Given the description of an element on the screen output the (x, y) to click on. 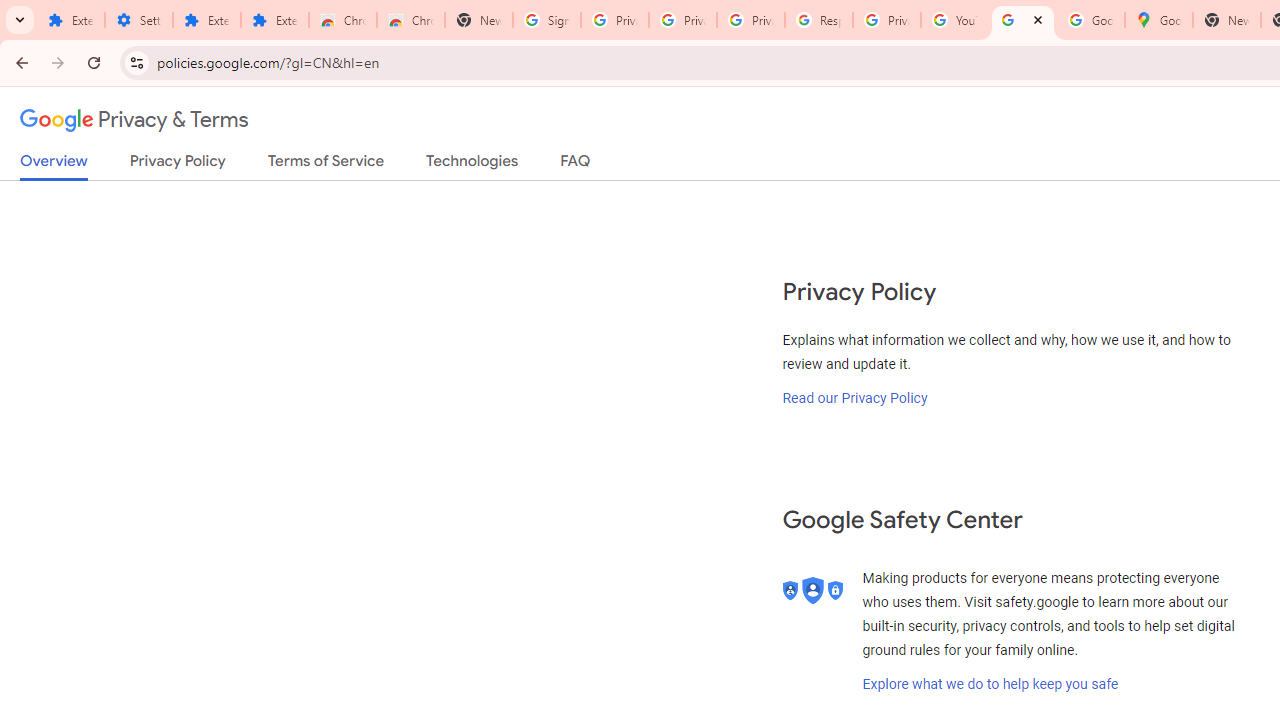
FAQ (575, 165)
New Tab (479, 20)
